Given the description of an element on the screen output the (x, y) to click on. 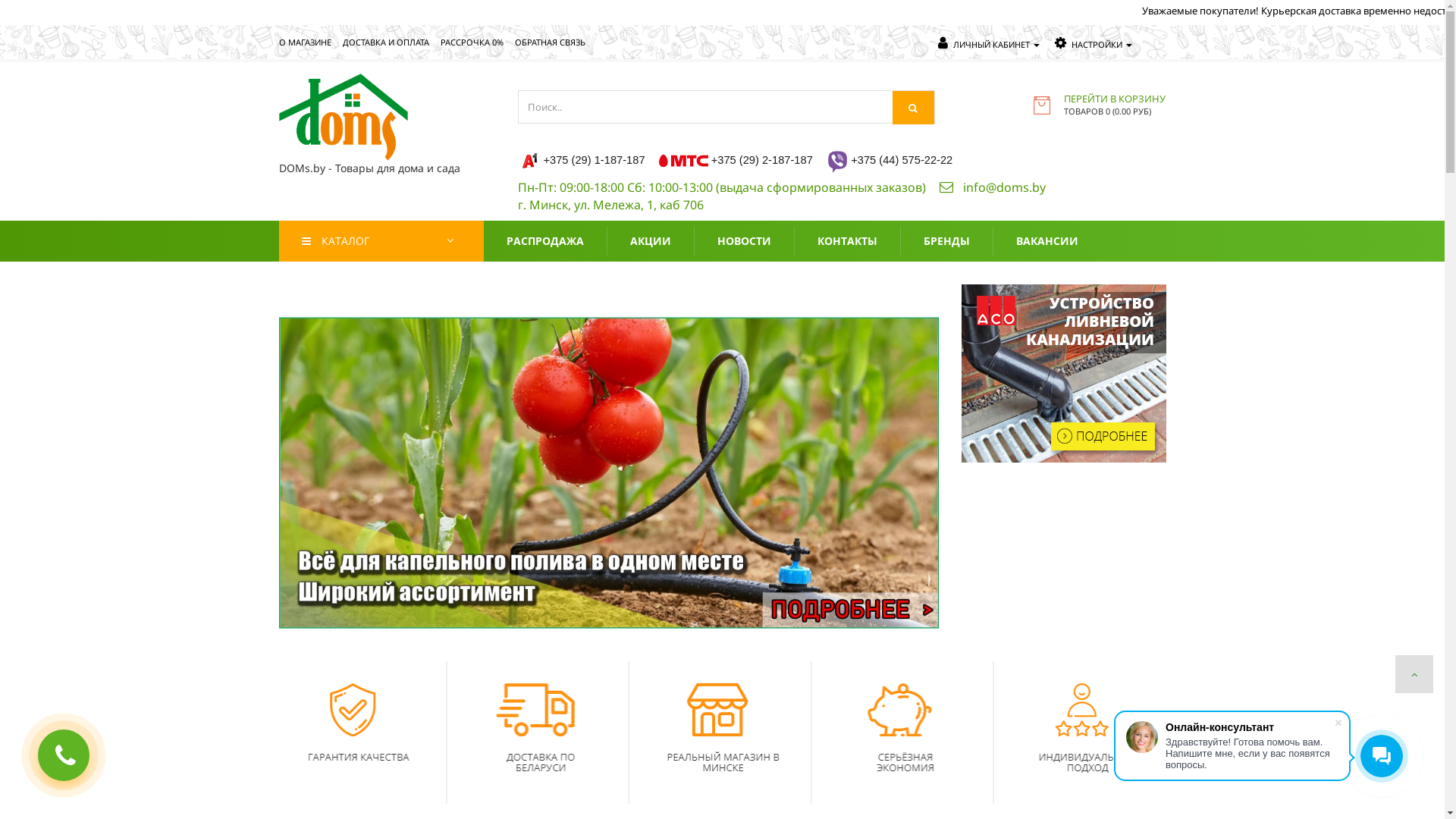
+375 (29) 2-187-187 Element type: text (761, 159)
+375 (29) 1-187-187 Element type: text (593, 159)
+375 (44) 575-22-22 Element type: text (901, 159)
